Given the description of an element on the screen output the (x, y) to click on. 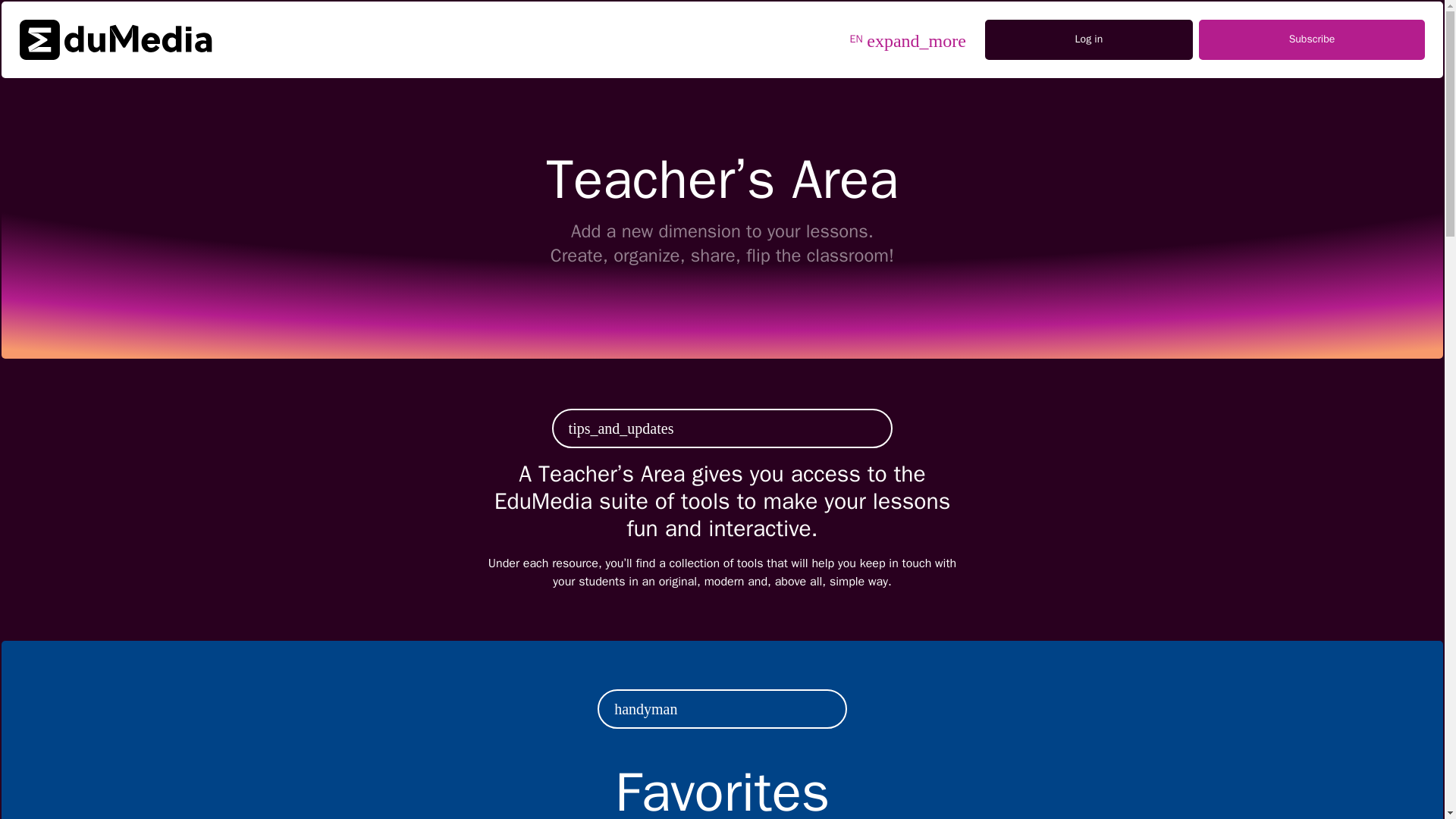
Log in (1088, 39)
Subscribe (1311, 39)
